Given the description of an element on the screen output the (x, y) to click on. 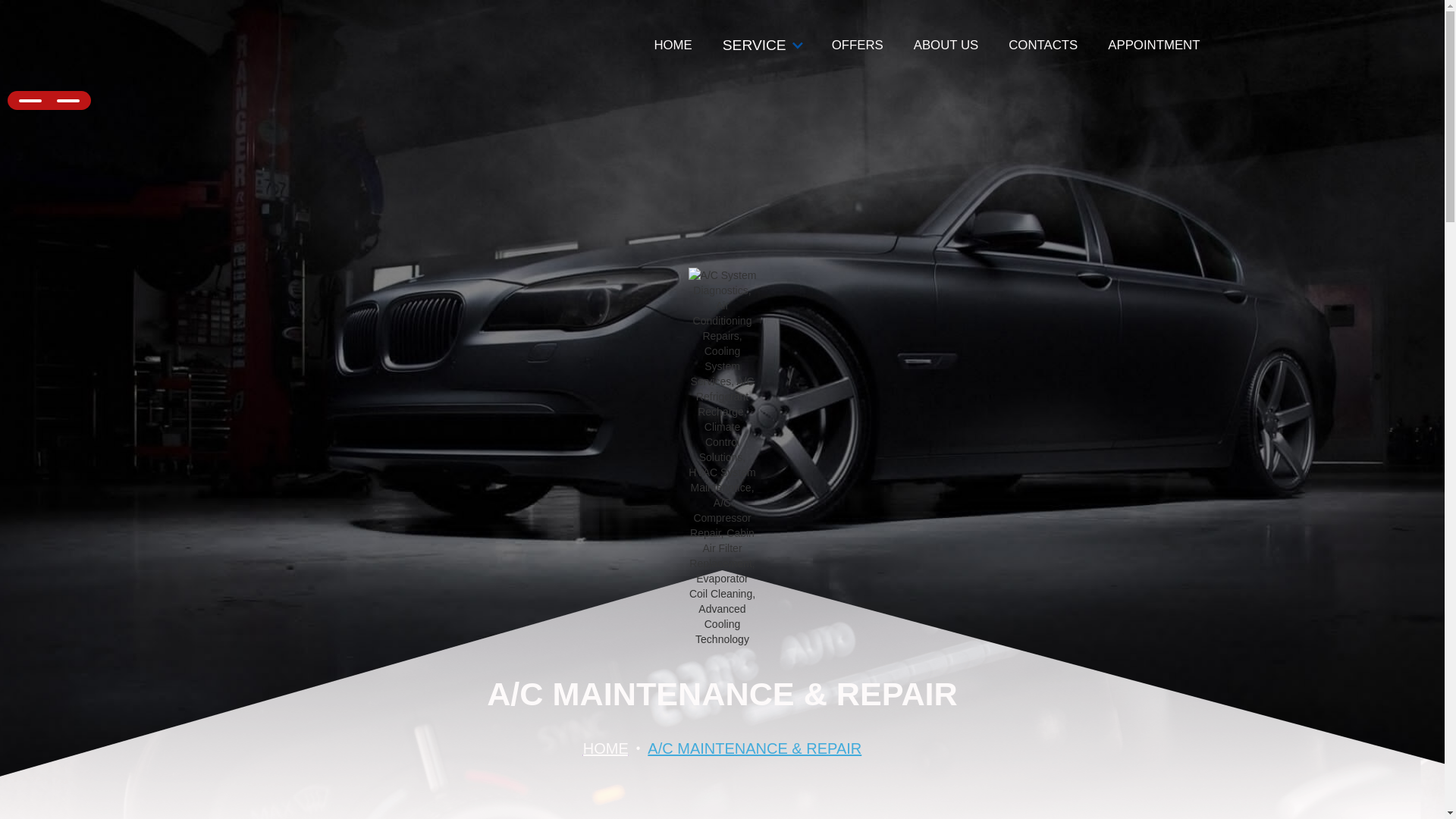
ABOUT US (945, 44)
HOME (605, 752)
CONTACTS (1042, 44)
OFFERS (857, 44)
HOME (672, 44)
APPOINTMENT (1153, 44)
